Given the description of an element on the screen output the (x, y) to click on. 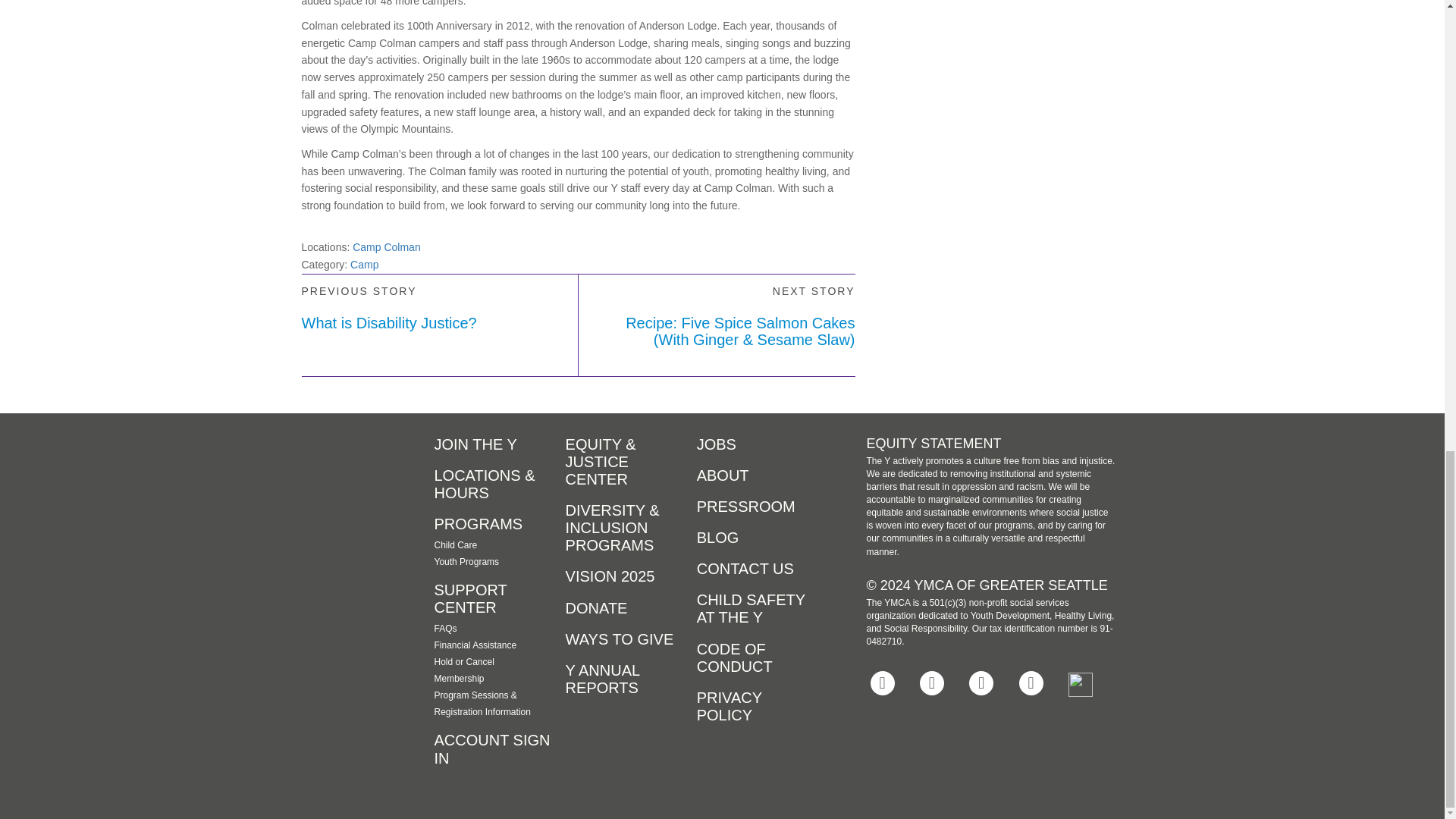
YMCA (339, 464)
